Given the description of an element on the screen output the (x, y) to click on. 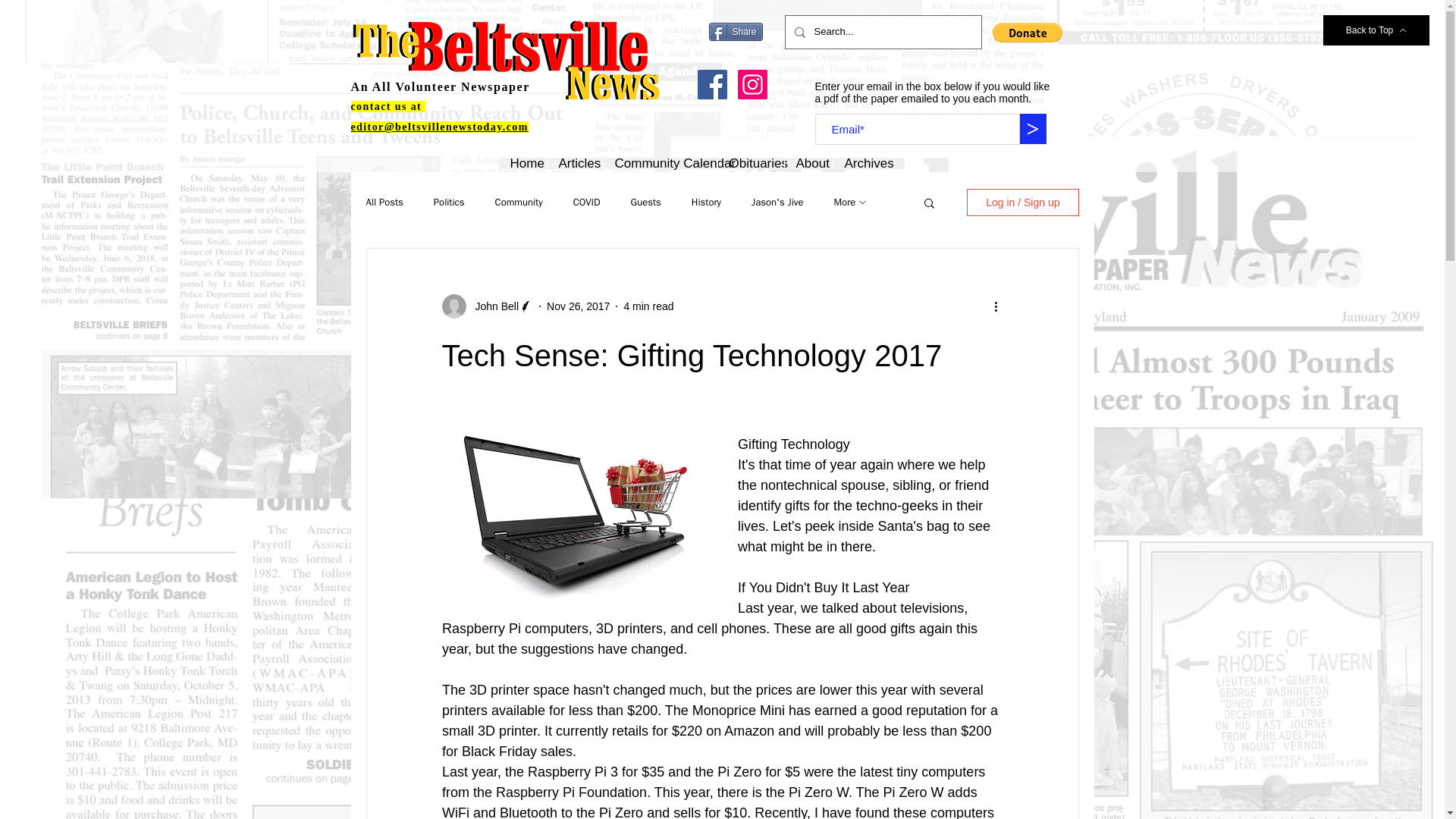
Nov 26, 2017 (578, 306)
Guests (645, 202)
Share (734, 31)
Community (519, 202)
Articles (574, 163)
COVID (586, 202)
Jason's Jive (777, 202)
Back to Top (1376, 30)
Share (734, 31)
Community Calendar (659, 163)
Politics (448, 202)
Facebook Like (737, 56)
All Posts (384, 202)
Obituaries (750, 163)
John Bell (491, 306)
